Given the description of an element on the screen output the (x, y) to click on. 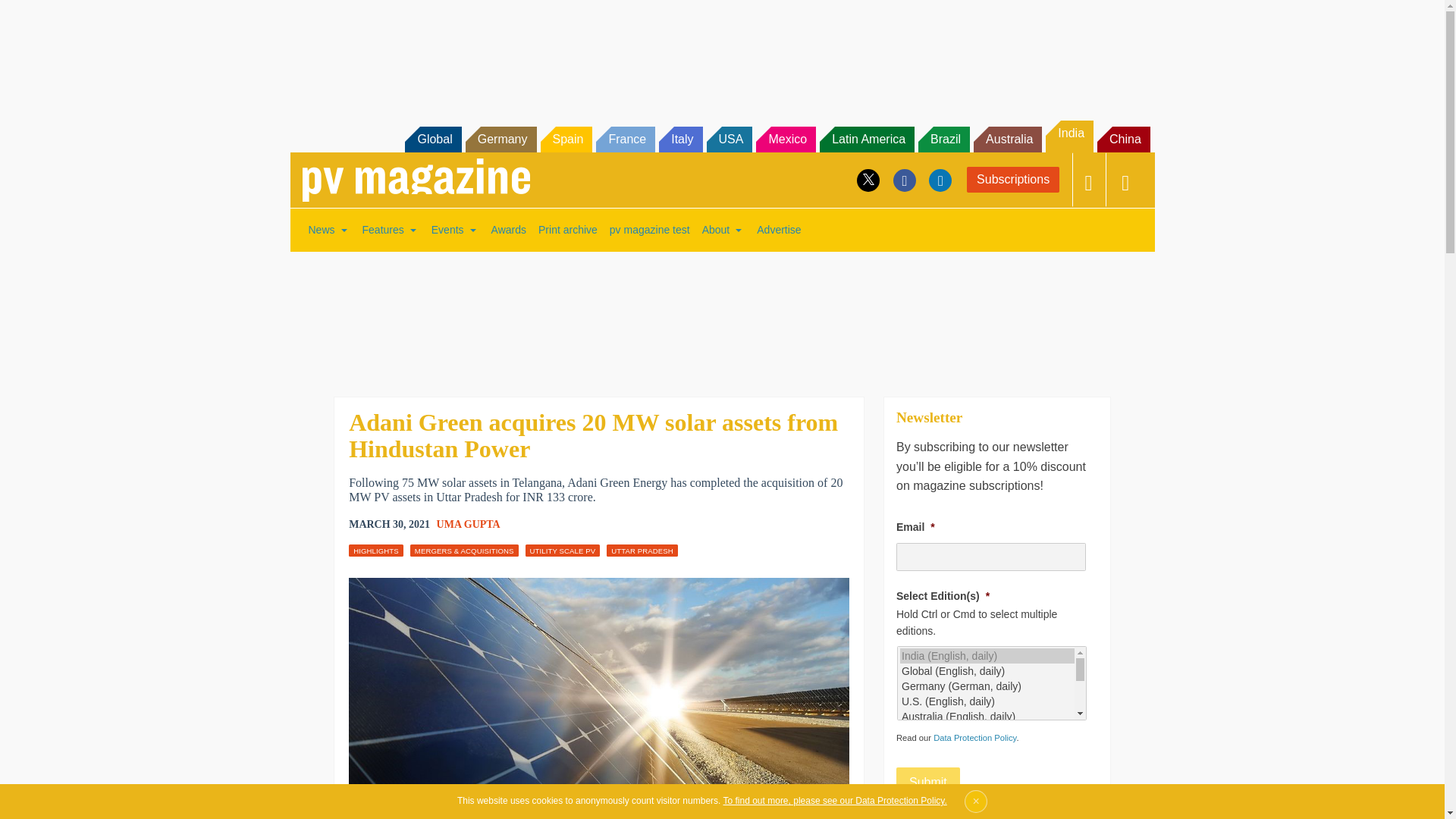
Latin America (866, 139)
India (1069, 136)
Subscriptions (1012, 179)
Spain (566, 139)
pv magazine - Photovoltaics Markets and Technology (415, 180)
Submit (927, 782)
Posts by Uma Gupta (468, 523)
Italy (680, 139)
3rd party ad content (721, 314)
France (625, 139)
3rd party ad content (721, 51)
USA (729, 139)
Australia (1008, 139)
Search (32, 15)
China (1123, 139)
